Given the description of an element on the screen output the (x, y) to click on. 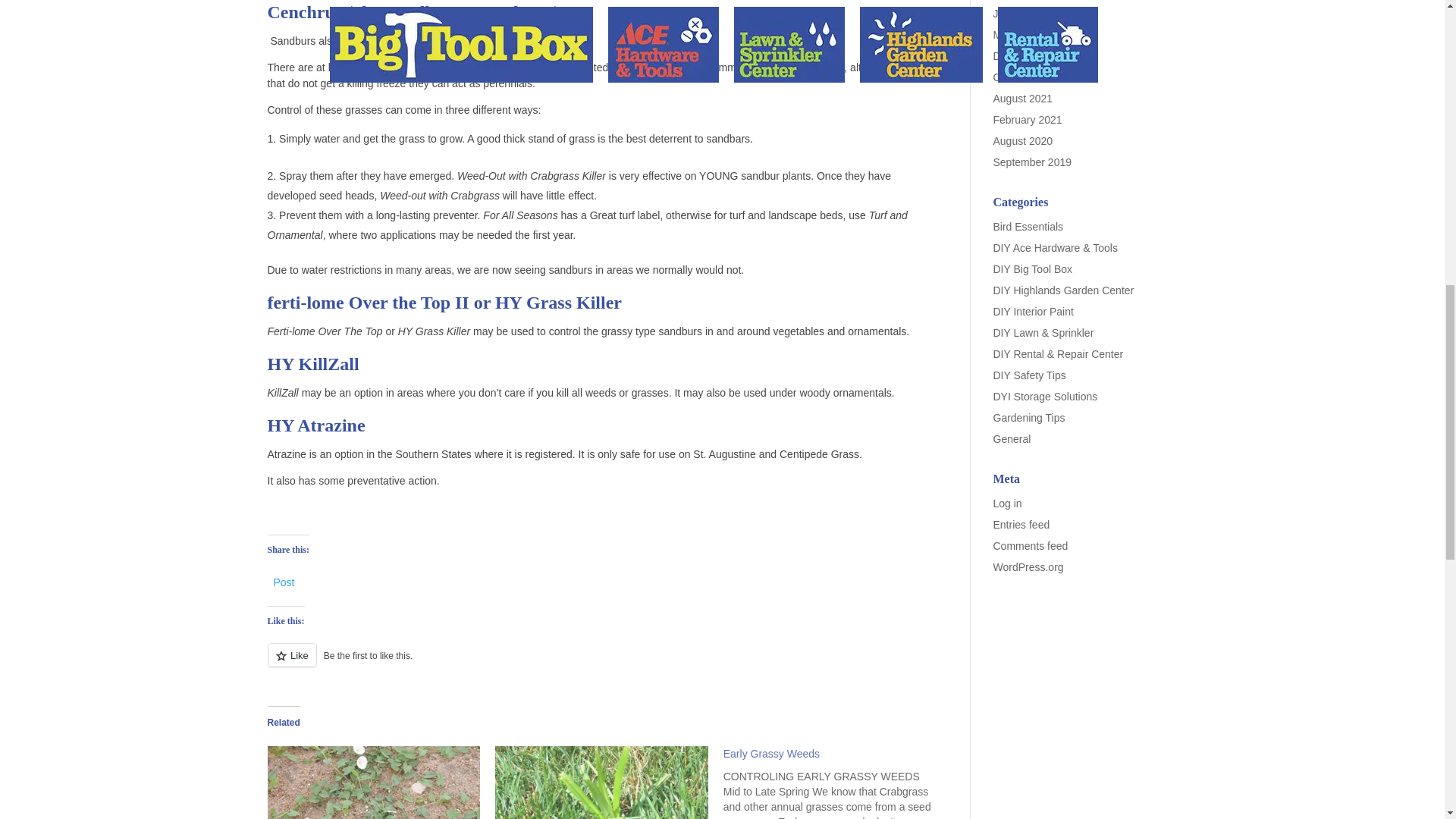
Ways To Control Field Bindweed (373, 782)
Early Grassy Weeds (771, 753)
Controlling Nutsedge-A  persistent weed in lawns and gardens (601, 782)
Like or Reblog (604, 663)
Early Grassy Weeds (837, 782)
